Given the description of an element on the screen output the (x, y) to click on. 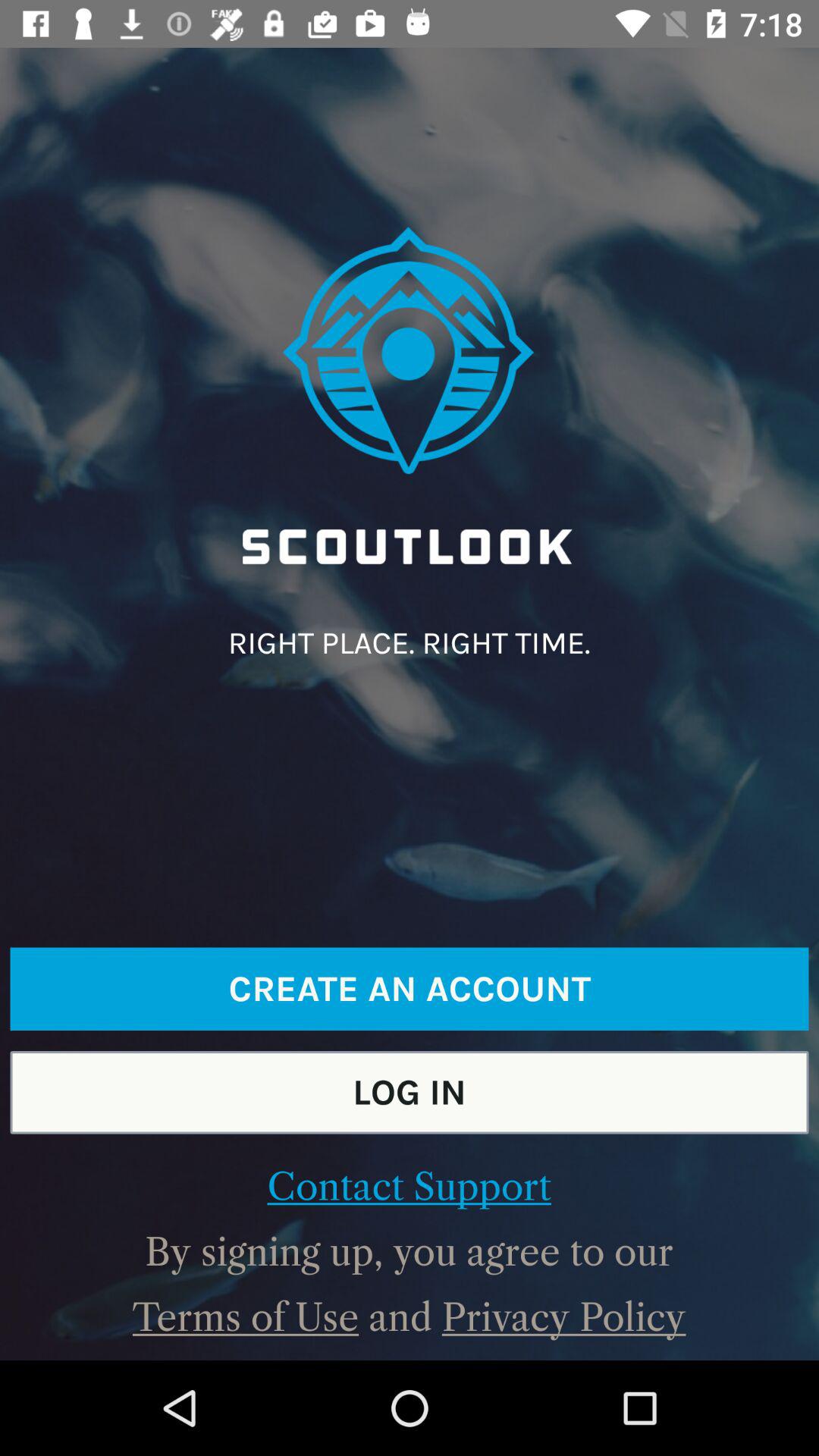
select the terms of use (245, 1317)
